Given the description of an element on the screen output the (x, y) to click on. 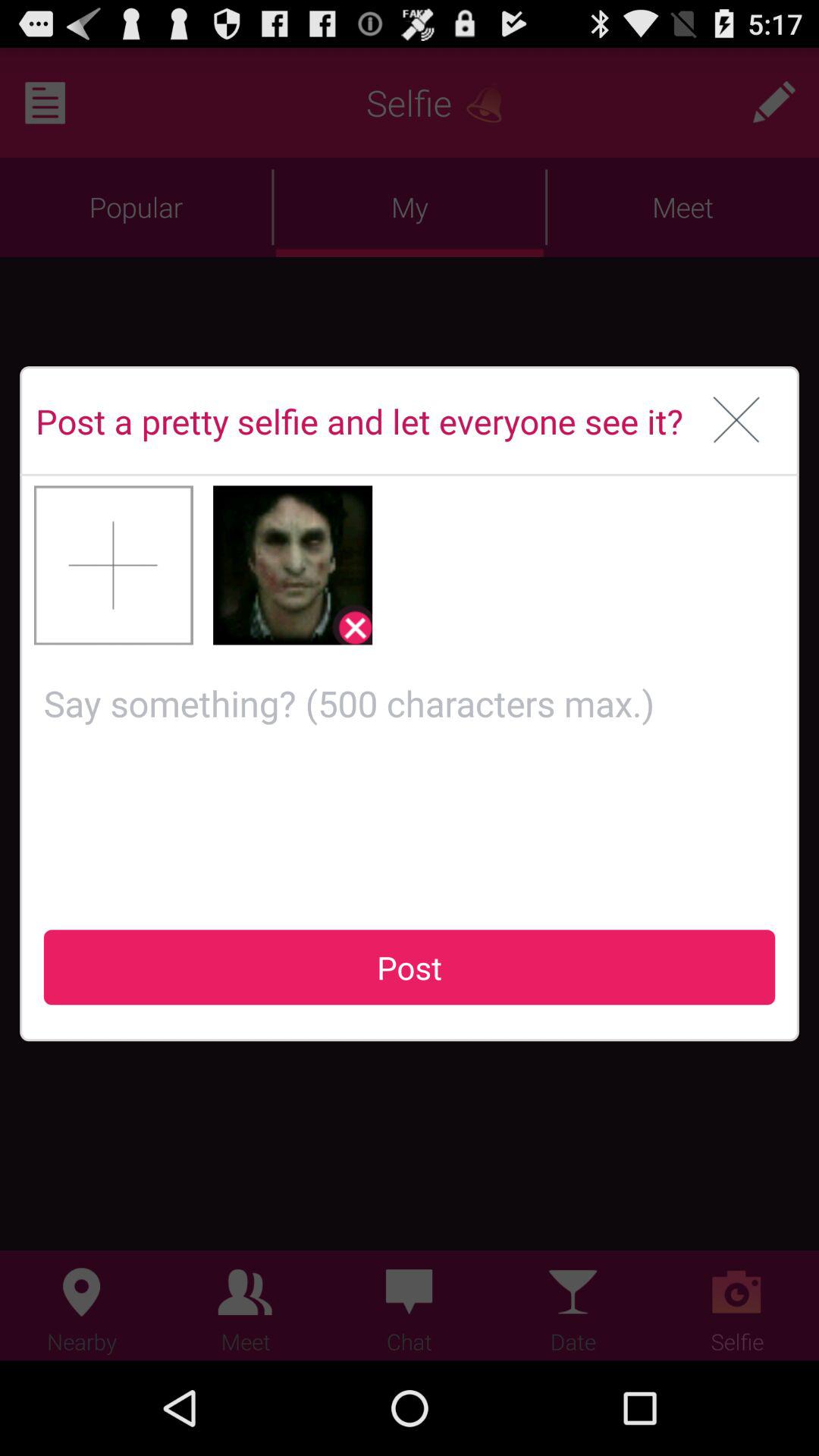
close (736, 421)
